Given the description of an element on the screen output the (x, y) to click on. 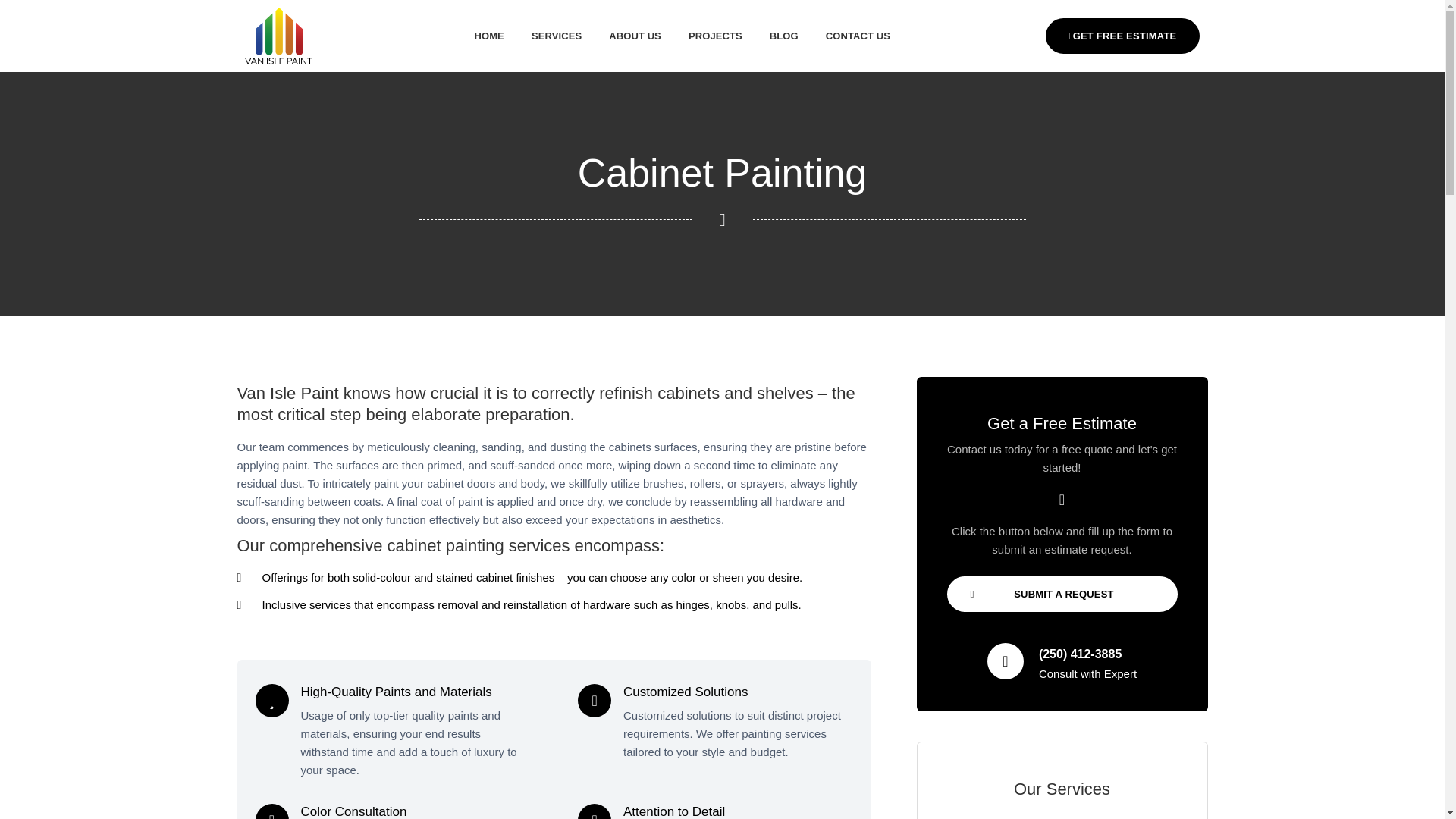
BLOG (783, 35)
GET FREE ESTIMATE (1122, 36)
HOME (488, 35)
ABOUT US (634, 35)
CONTACT US (858, 35)
PROJECTS (715, 35)
SERVICES (556, 35)
